Given the description of an element on the screen output the (x, y) to click on. 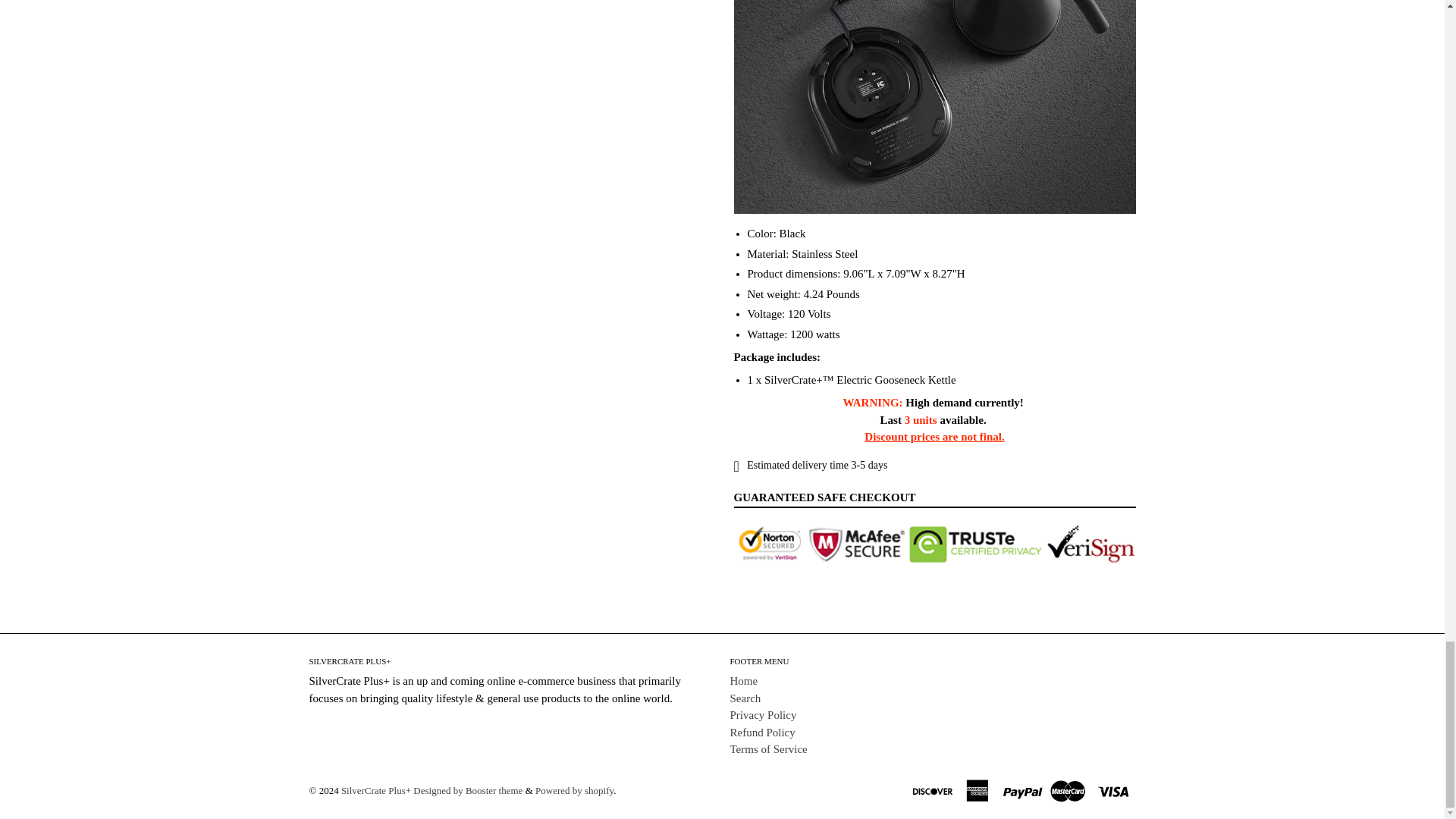
american express (979, 788)
paypal (1024, 788)
visa (1114, 788)
discover (933, 788)
